Given the description of an element on the screen output the (x, y) to click on. 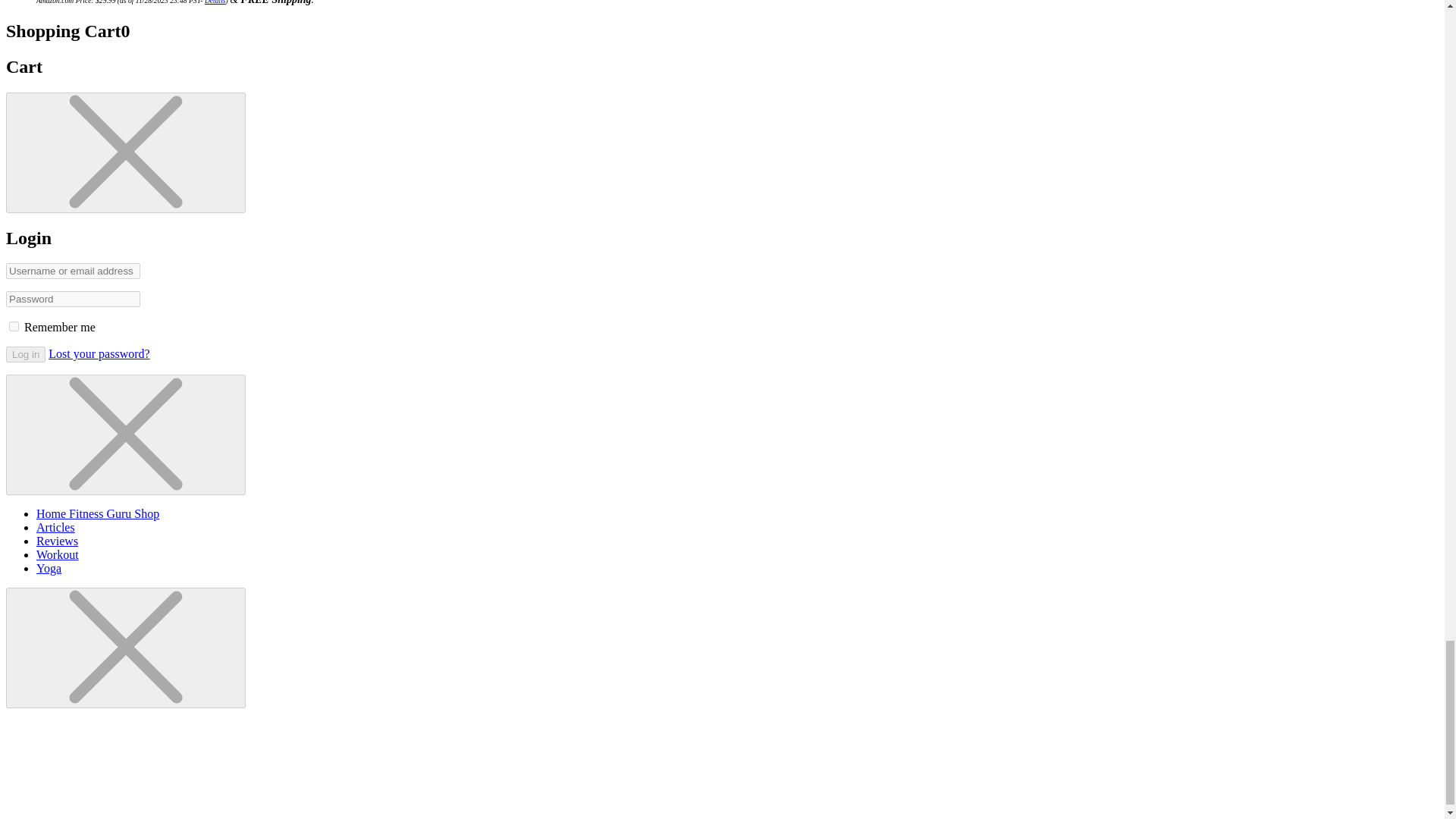
forever (13, 326)
